Given the description of an element on the screen output the (x, y) to click on. 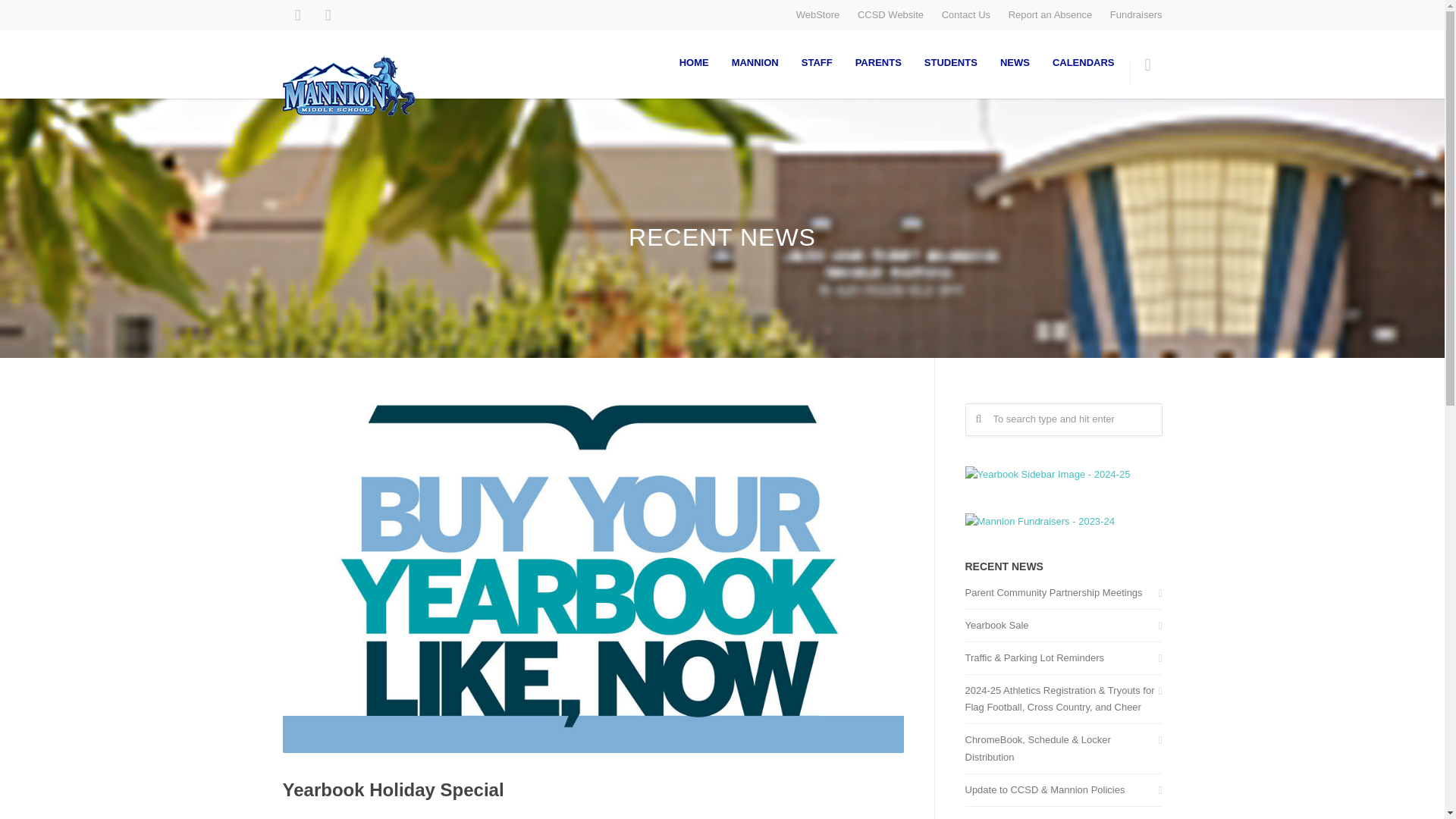
PARENTS (878, 62)
STAFF (817, 62)
Fundraisers (1135, 14)
MANNION (755, 62)
Contact Us (966, 14)
CCSD Website (890, 14)
STUDENTS (950, 62)
Twitter (327, 15)
HOME (694, 62)
Facebook (297, 15)
